Given the description of an element on the screen output the (x, y) to click on. 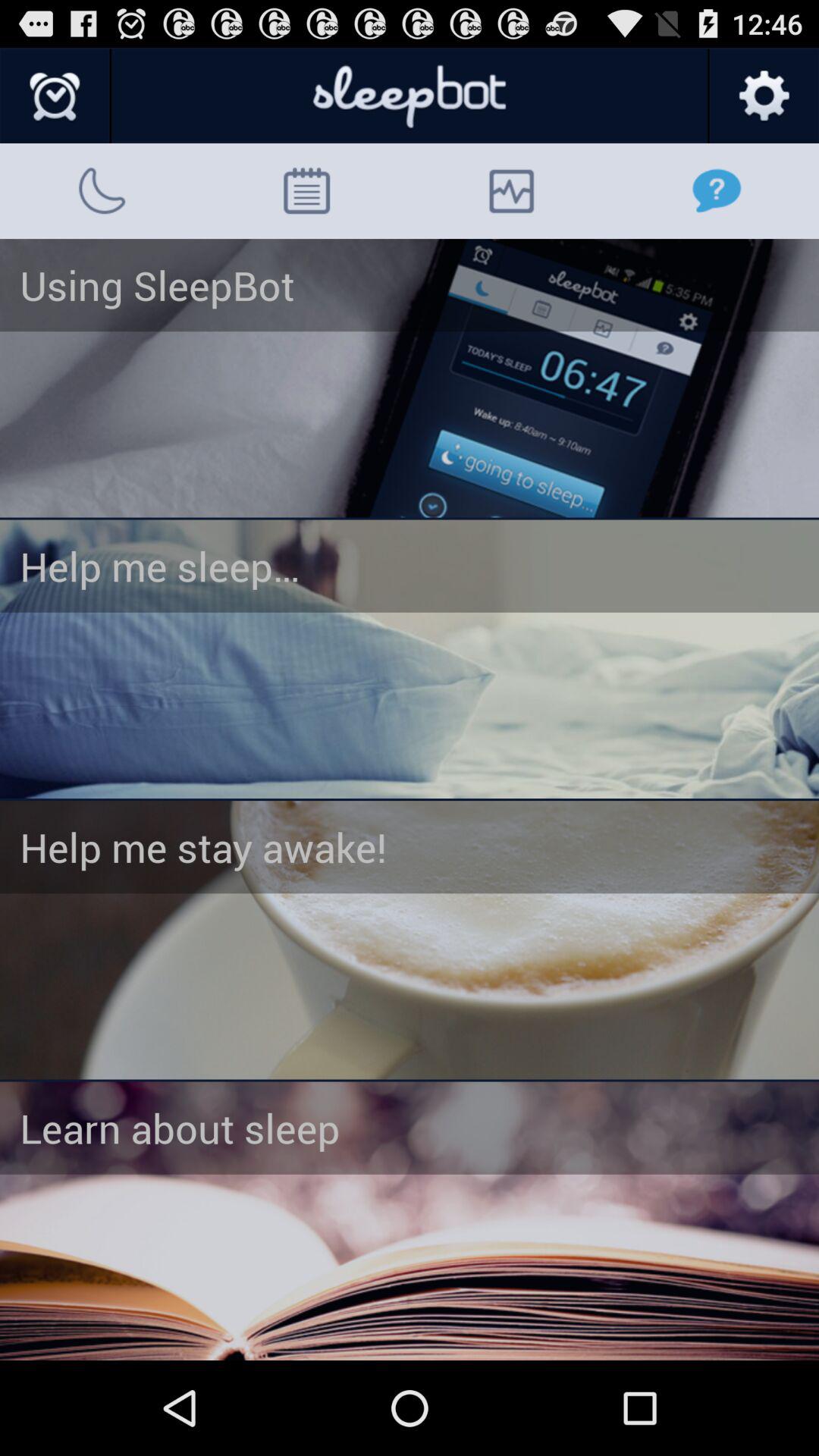
set alarm (409, 939)
